Given the description of an element on the screen output the (x, y) to click on. 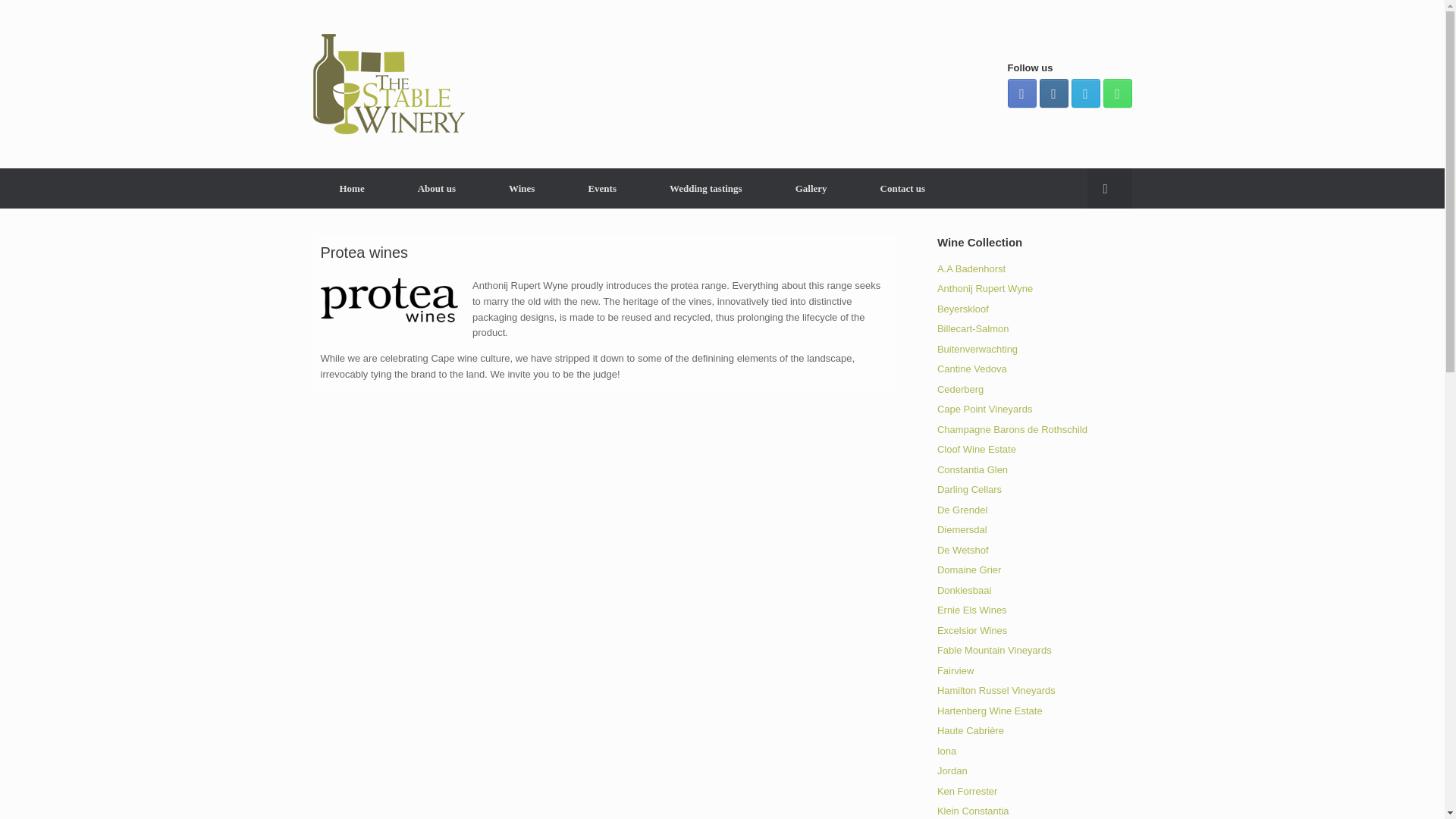
Fairview (955, 669)
Hartenberg Wine Estate (989, 710)
Excelsior Wines (972, 630)
Fable Mountain Vineyards (994, 650)
Constantia Glen (972, 469)
Jordan (952, 770)
Gallery (810, 188)
Ken Forrester (967, 790)
Iona (946, 749)
De Grendel (962, 509)
Cantine Vedova (972, 368)
The Stable Winery Facebook (1021, 92)
Darling Cellars (969, 489)
Buitenverwachting (977, 348)
The Stable Winery (388, 84)
